Given the description of an element on the screen output the (x, y) to click on. 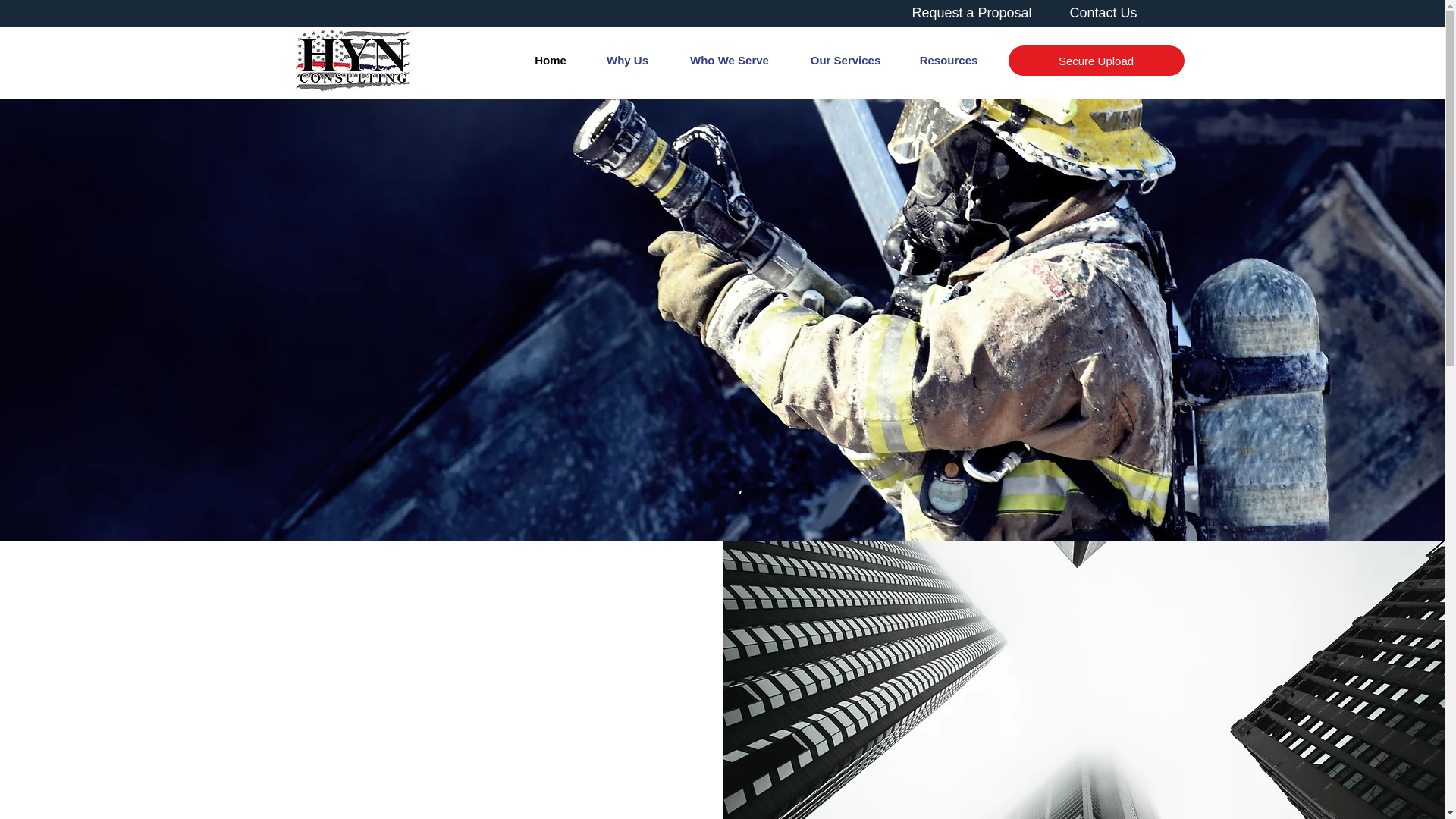
Our Services (844, 60)
Home (549, 60)
Resources (949, 60)
Contact Us (1102, 12)
Why Us (627, 60)
Who We Serve (729, 60)
Secure Upload (1097, 60)
Request a Proposal (970, 12)
